Given the description of an element on the screen output the (x, y) to click on. 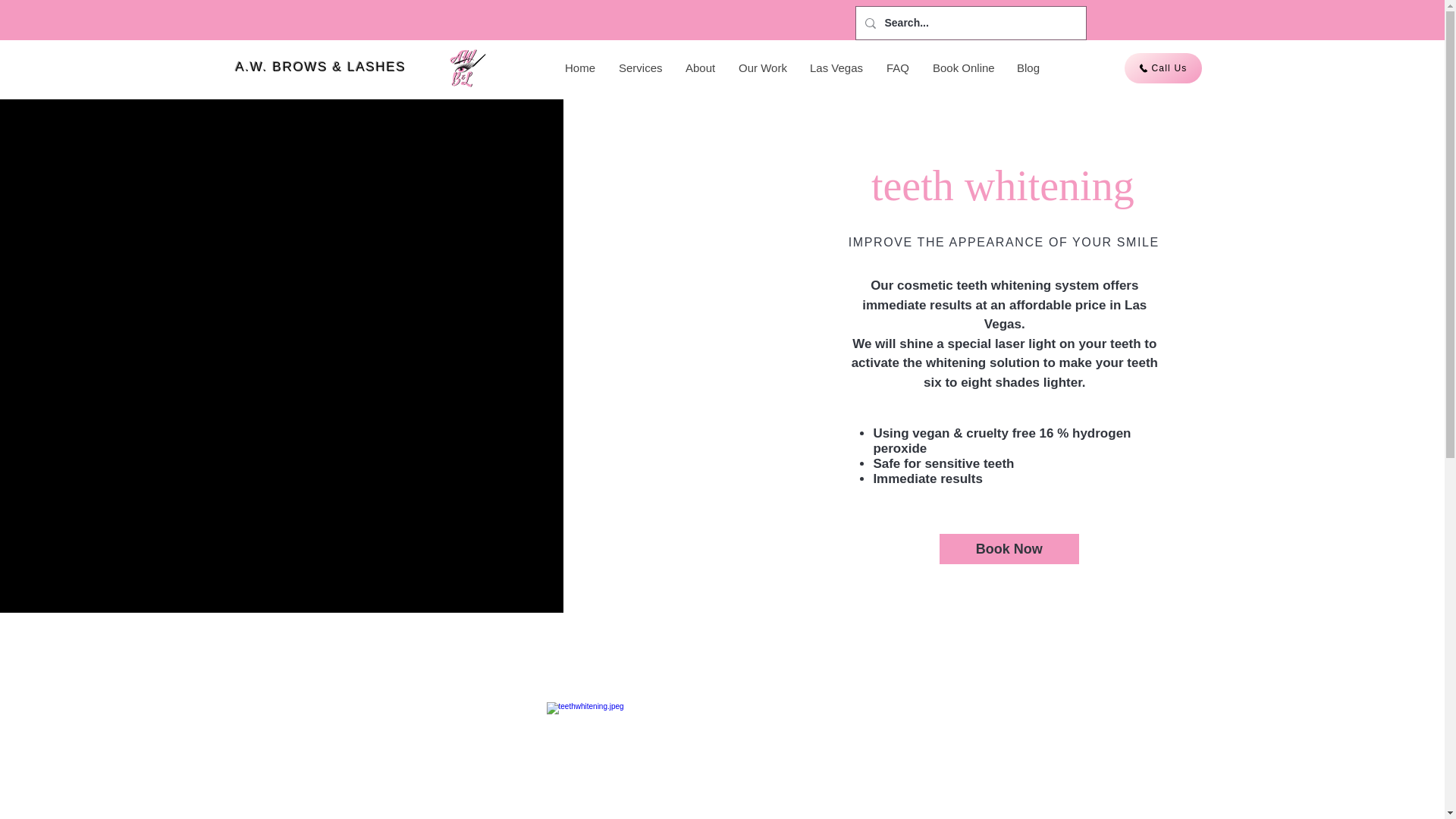
Book Online (962, 68)
Blog (1027, 68)
Call Us (1162, 68)
Our Work (761, 68)
Home (580, 68)
FAQ (897, 68)
About (699, 68)
Book Now (1008, 548)
